Given the description of an element on the screen output the (x, y) to click on. 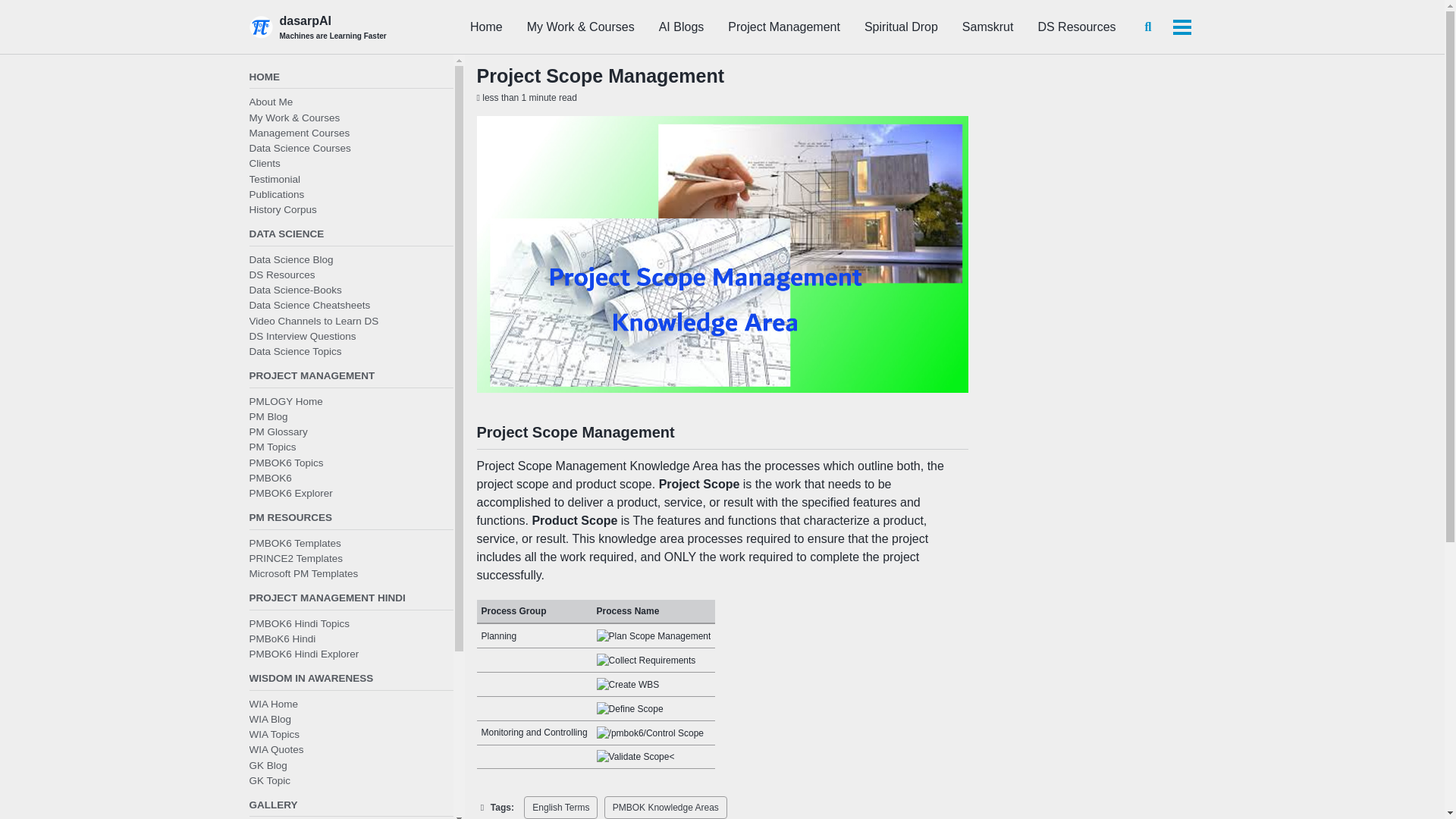
Data Science Cheatsheets (308, 305)
PM Topics (271, 446)
About Me (270, 101)
Samskrut (987, 27)
AI Blogs (681, 27)
Publications (276, 194)
Data Science Blog (290, 258)
Home (486, 27)
DS Interview Questions (301, 336)
Project Management (784, 27)
